Given the description of an element on the screen output the (x, y) to click on. 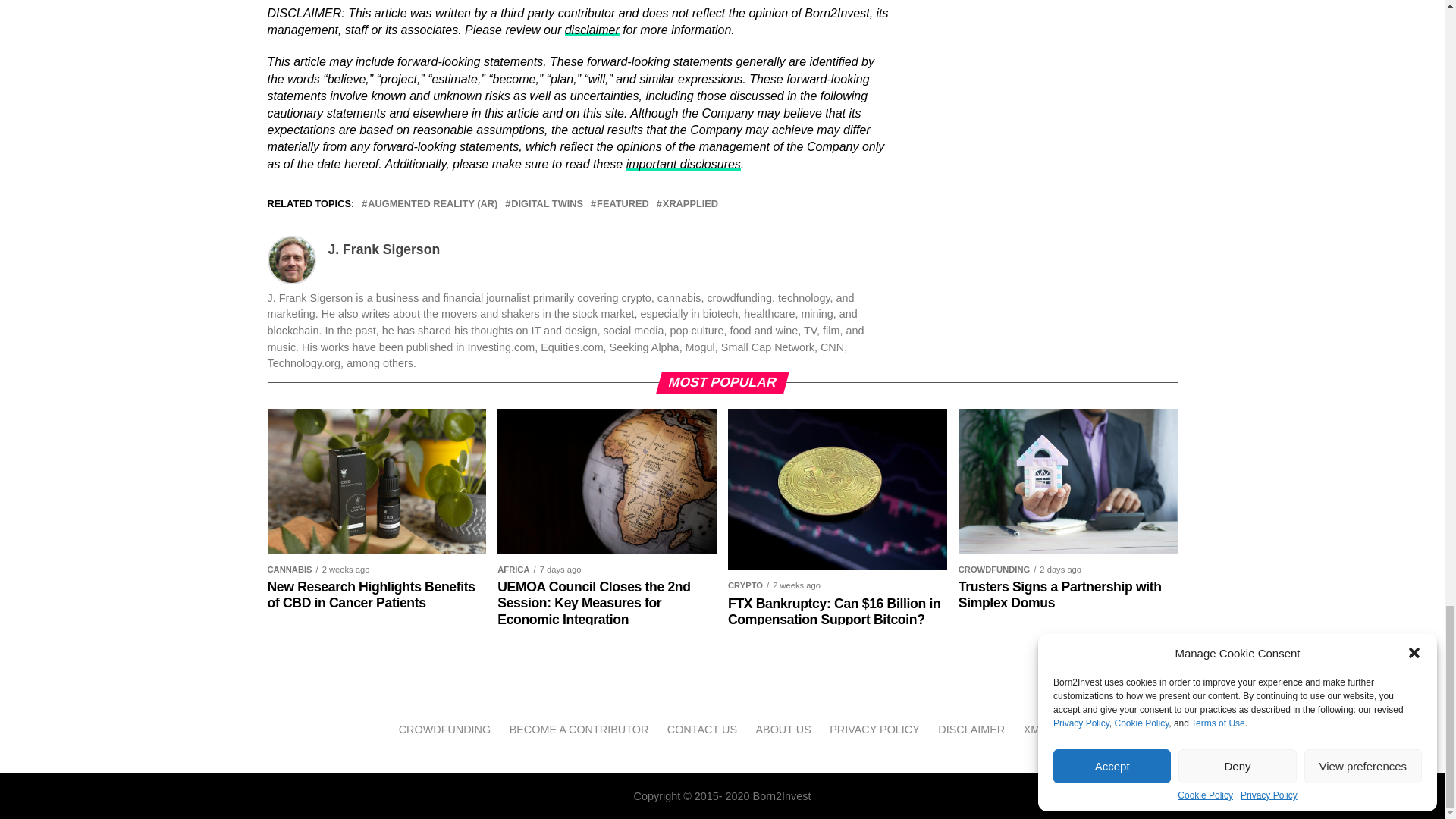
Posts by J. Frank Sigerson (383, 249)
